Given the description of an element on the screen output the (x, y) to click on. 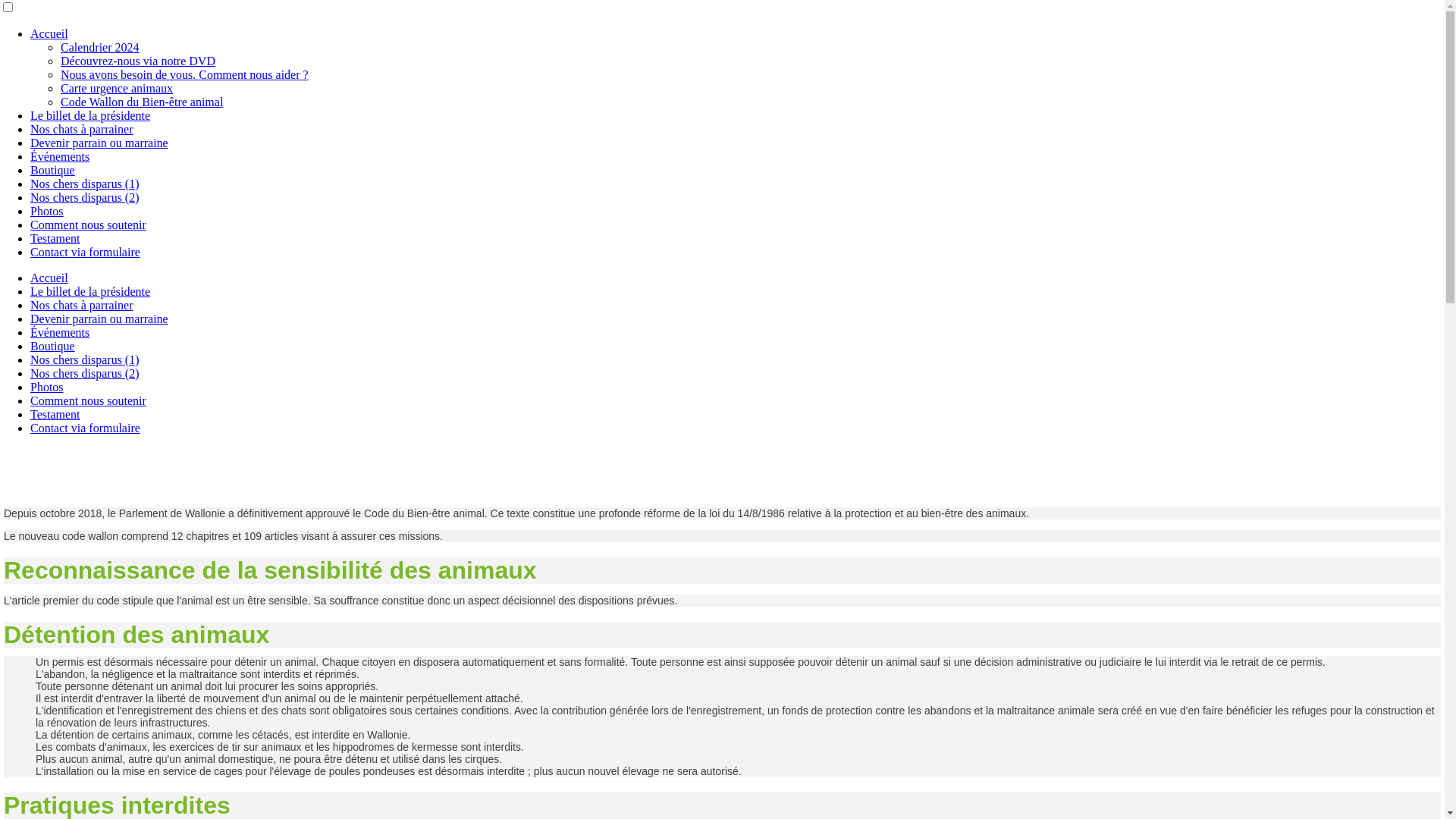
Nous avons besoin de vous. Comment nous aider ? Element type: text (184, 74)
Testament Element type: text (55, 238)
Comment nous soutenir Element type: text (88, 400)
Devenir parrain ou marraine Element type: text (99, 318)
Nos chers disparus (1) Element type: text (84, 183)
Calendrier 2024 Element type: text (99, 46)
Photos Element type: text (46, 386)
Nos chers disparus (2) Element type: text (84, 373)
Accueil Element type: text (49, 33)
Contact via formulaire Element type: text (85, 427)
Boutique Element type: text (52, 169)
Devenir parrain ou marraine Element type: text (99, 142)
Nos chers disparus (1) Element type: text (84, 359)
Photos Element type: text (46, 210)
Testament Element type: text (55, 413)
Boutique Element type: text (52, 345)
Accueil Element type: text (49, 277)
Carte urgence animaux Element type: text (116, 87)
Comment nous soutenir Element type: text (88, 224)
Nos chers disparus (2) Element type: text (84, 197)
Contact via formulaire Element type: text (85, 251)
